Given the description of an element on the screen output the (x, y) to click on. 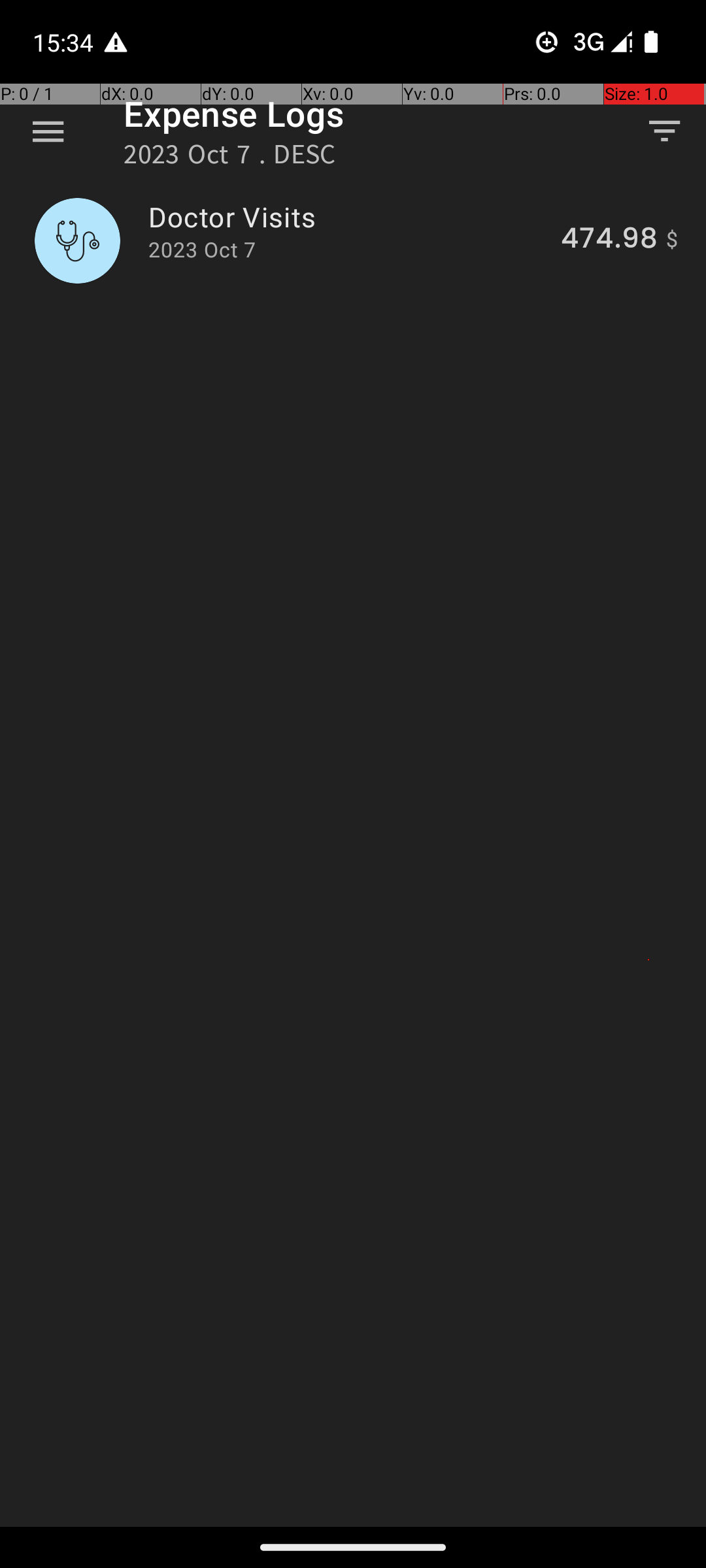
Expense Logs Element type: android.widget.TextView (233, 113)
2023 Oct 7 . DESC Element type: android.widget.TextView (229, 157)
Filter Element type: android.widget.TextView (664, 131)
Doctor Visits Element type: android.widget.TextView (346, 216)
2023 Oct 7 Element type: android.widget.TextView (201, 249)
474.98 Element type: android.widget.TextView (609, 240)
$ Element type: android.widget.TextView (671, 240)
